Given the description of an element on the screen output the (x, y) to click on. 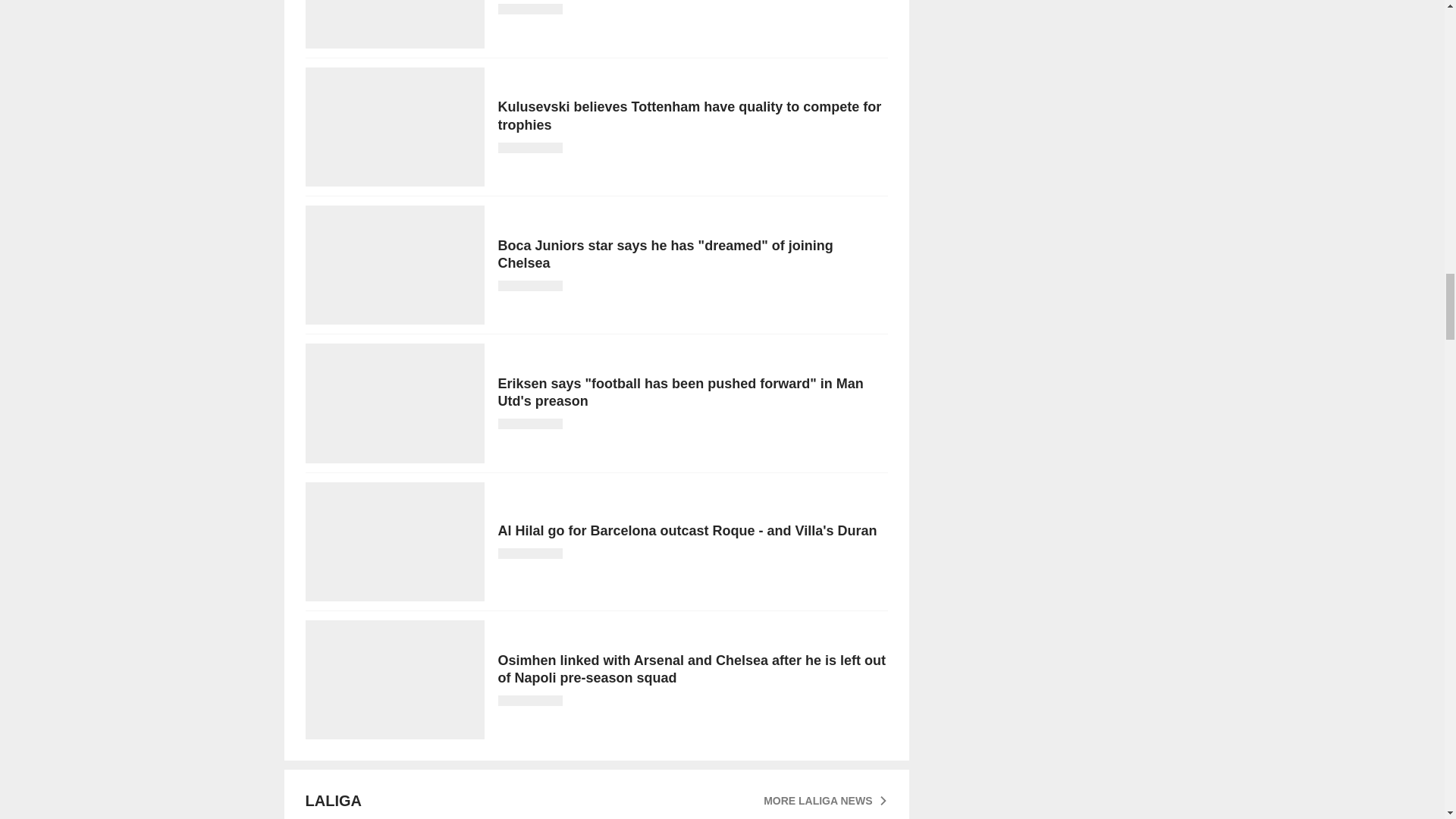
Boca Juniors star says he has "dreamed" of joining Chelsea (595, 264)
